Given the description of an element on the screen output the (x, y) to click on. 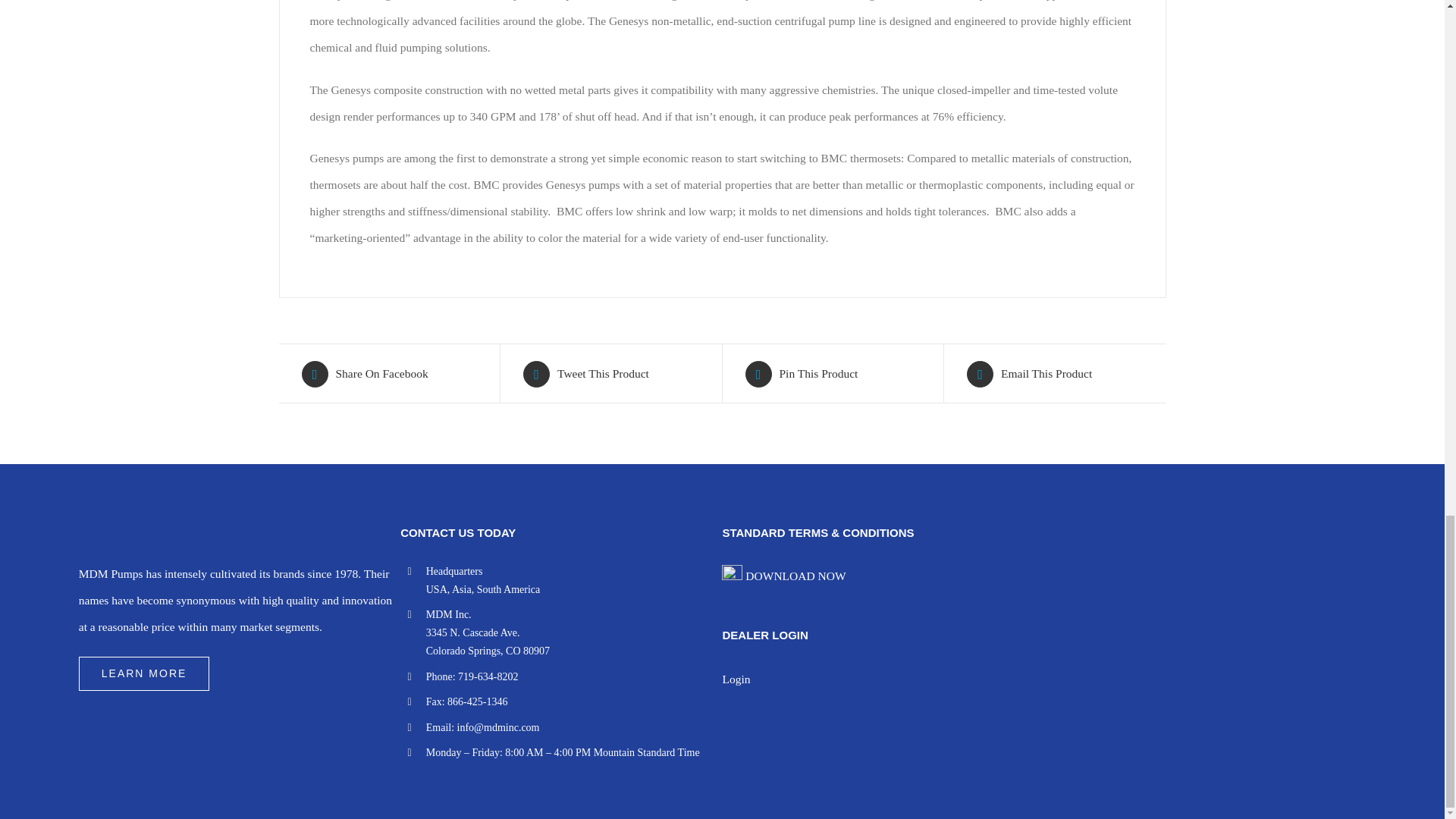
Pin This Product (832, 373)
Share On Facebook (389, 373)
Tweet This Product (610, 373)
